Given the description of an element on the screen output the (x, y) to click on. 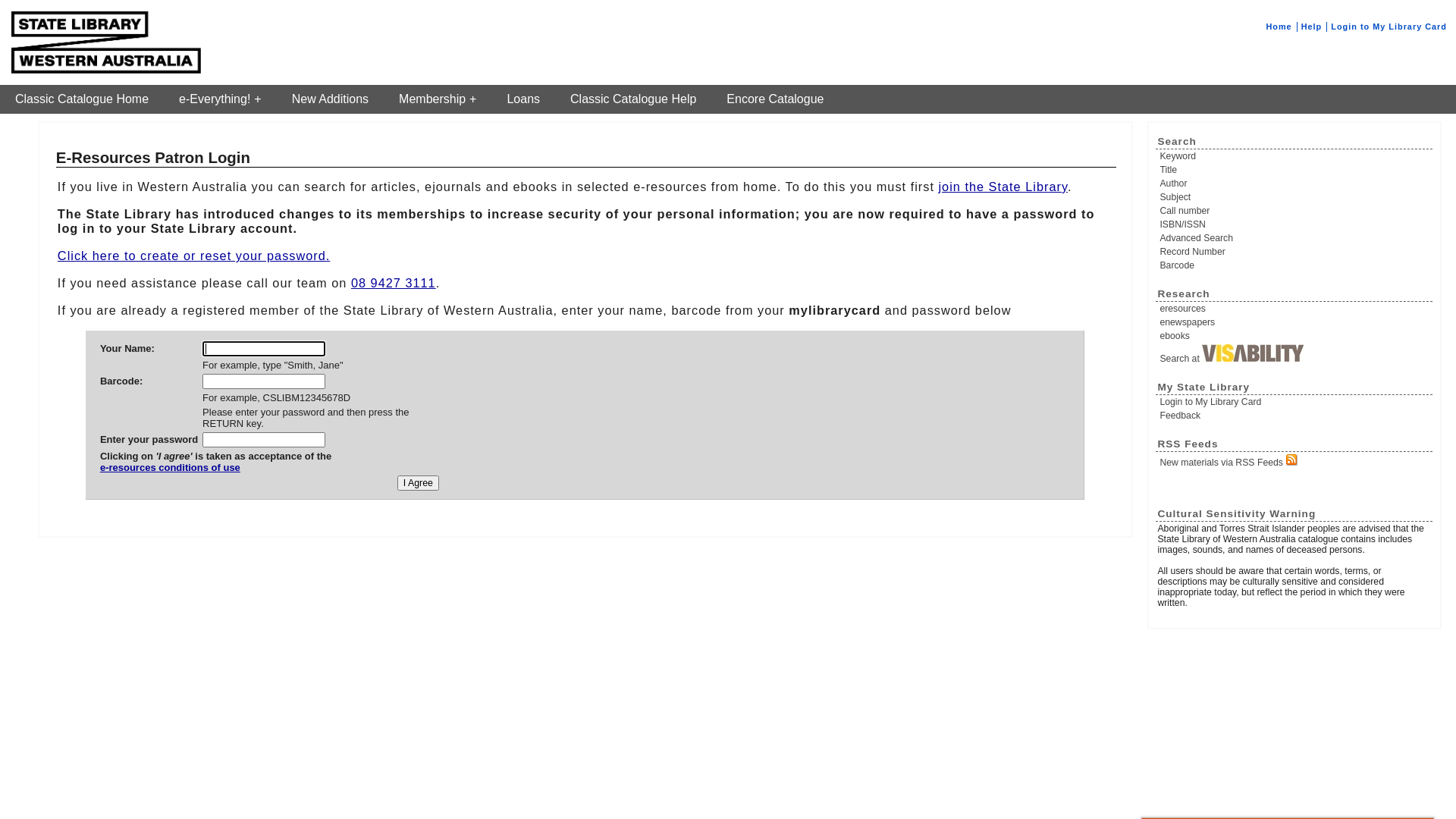
join the State Library Element type: text (1002, 186)
e-resources conditions of use Element type: text (215, 472)
Membership Element type: text (437, 98)
Login to My Library Card Element type: text (1294, 401)
New materials via RSS Feeds Element type: text (1294, 460)
Help Element type: text (1311, 26)
Author Element type: text (1294, 183)
Keyword Element type: text (1294, 155)
Feedback Element type: text (1294, 415)
I Agree Element type: text (418, 482)
Call number Element type: text (1294, 210)
Classic Catalogue Home Element type: text (81, 98)
ISBN/ISSN Element type: text (1294, 224)
Login to My Library Card Element type: text (1388, 26)
Record Number Element type: text (1294, 251)
08 9427 3111 Element type: text (393, 282)
New Additions Element type: text (329, 98)
Loans Element type: text (523, 98)
e-Everything! Element type: text (219, 98)
ebooks Element type: text (1294, 335)
Advanced Search Element type: text (1294, 237)
Subject Element type: text (1294, 196)
Click here to create or reset your password. Element type: text (193, 255)
Search at Element type: text (1294, 354)
Barcode Element type: text (1294, 265)
enewspapers Element type: text (1294, 321)
Title Element type: text (1294, 169)
Classic Catalogue Help Element type: text (633, 98)
Home Element type: text (1278, 26)
Encore Catalogue Element type: text (774, 98)
eresources Element type: text (1294, 308)
